Given the description of an element on the screen output the (x, y) to click on. 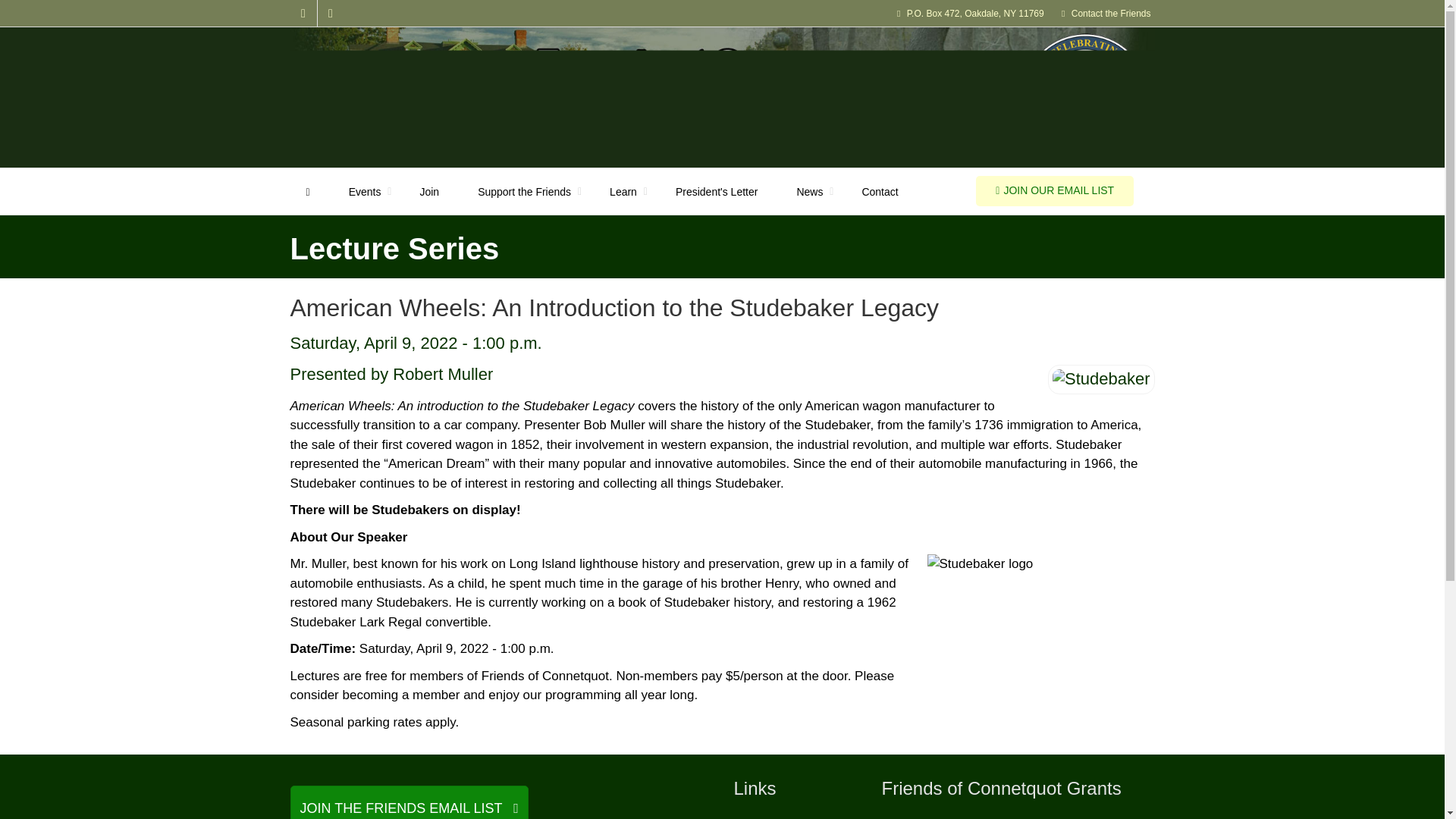
Contact (879, 191)
Support the Friends (524, 191)
President's Letter (717, 191)
Events (365, 191)
Learn (623, 191)
Join (429, 191)
Contact the Friends (1111, 13)
News (809, 191)
